Given the description of an element on the screen output the (x, y) to click on. 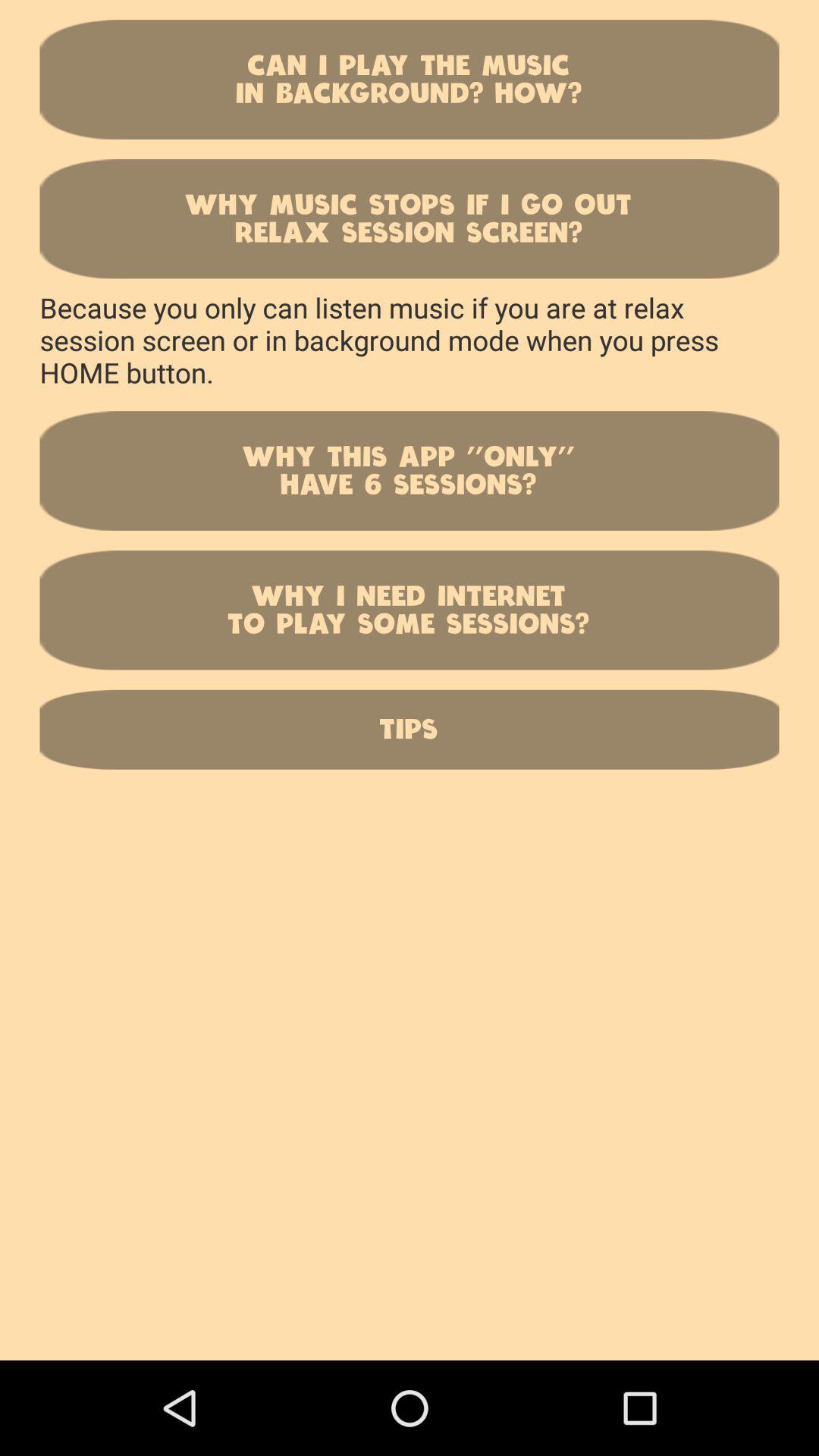
press why this app item (409, 470)
